Given the description of an element on the screen output the (x, y) to click on. 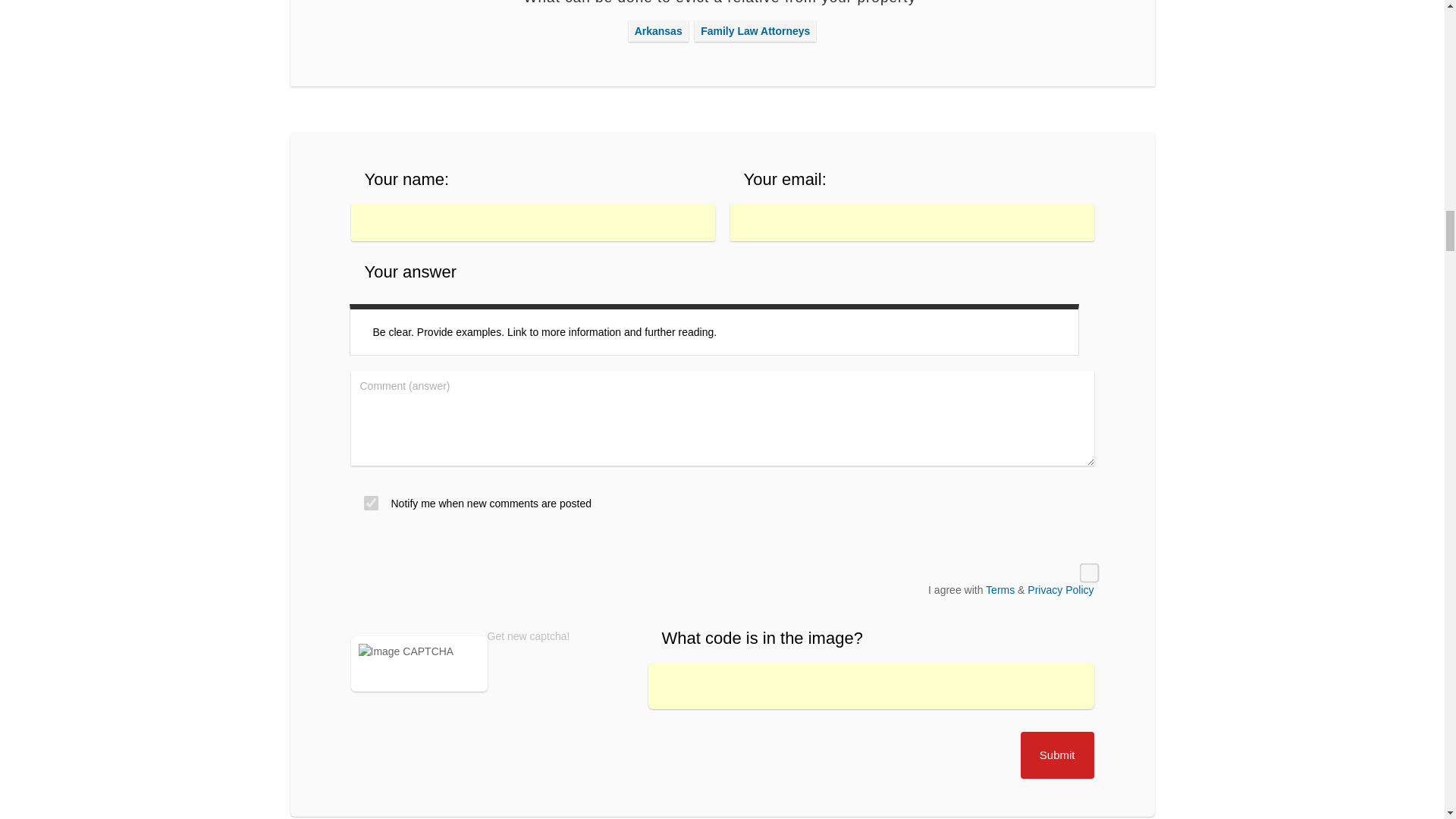
Submit (1057, 755)
1 (1083, 567)
1 (367, 501)
